Given the description of an element on the screen output the (x, y) to click on. 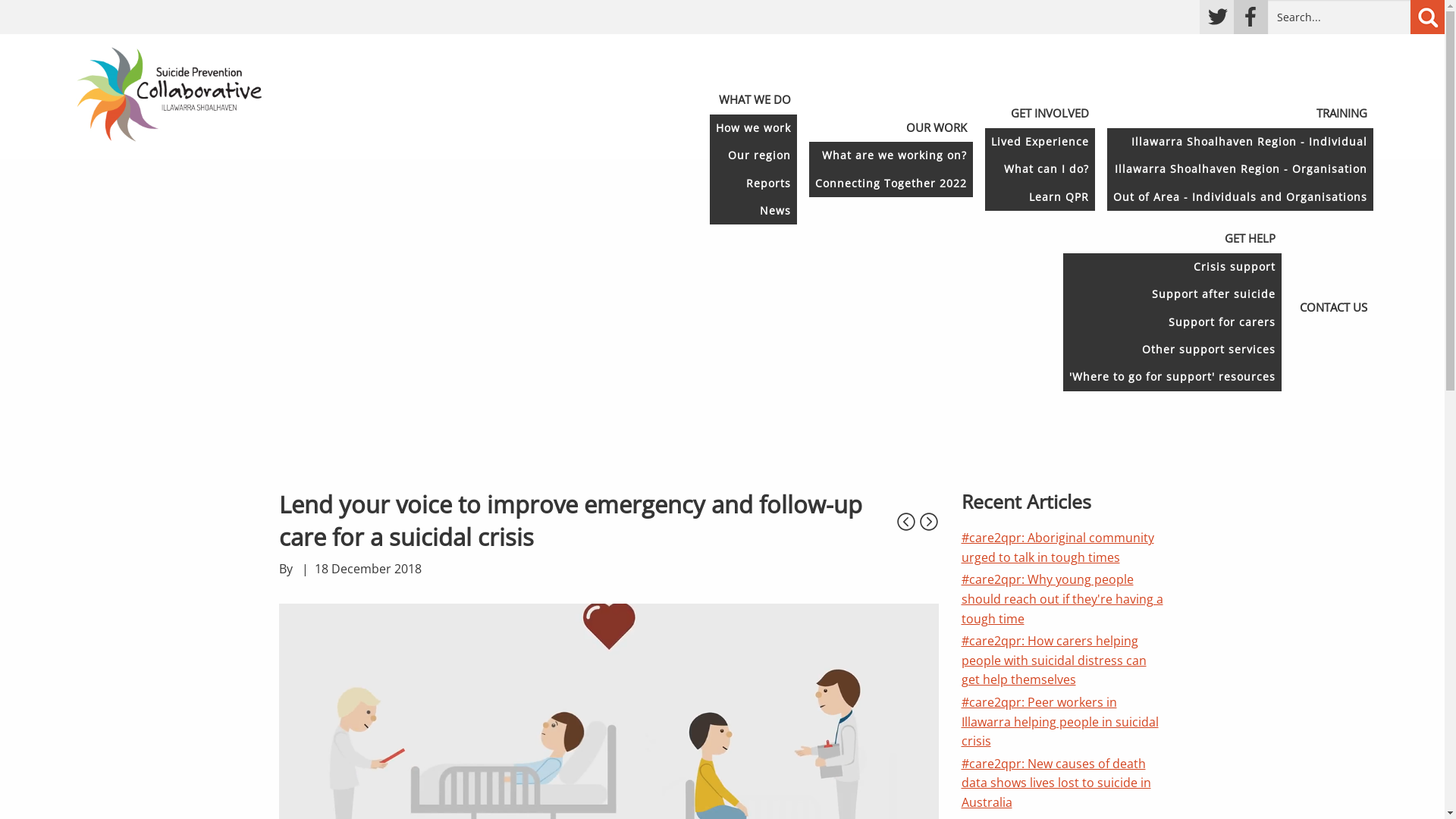
Out of Area - Individuals and Organisations Element type: text (1240, 196)
submit Element type: text (1427, 17)
Connecting Together 2022 Element type: text (890, 182)
GET INVOLVED Element type: text (1049, 113)
What are we working on? Element type: text (890, 155)
Learn QPR Element type: text (1039, 196)
How we work Element type: text (753, 127)
Other support services Element type: text (1172, 349)
Illawarra Shoalhaven Region - Organisation Element type: text (1240, 168)
'Where to go for support' resources Element type: text (1172, 376)
Lived Experience Element type: text (1039, 141)
Reports Element type: text (753, 182)
Support after suicide Element type: text (1172, 293)
TRAINING Element type: text (1341, 113)
previous news Element type: hover (928, 508)
News Element type: text (753, 210)
GET HELP Element type: text (1248, 238)
Illawarra Shoalhaven Region - Individual Element type: text (1240, 141)
OUR WORK Element type: text (935, 126)
Suicide Prevention Element type: hover (169, 92)
CONTACT US Element type: text (1333, 307)
Crisis support Element type: text (1172, 266)
Our region Element type: text (753, 155)
Support for carers Element type: text (1172, 321)
submit search Element type: hover (1427, 17)
twitter Element type: hover (1216, 17)
What can I do? Element type: text (1039, 168)
next news Element type: hover (906, 508)
Search Element type: hover (1338, 17)
WHAT WE DO Element type: text (754, 99)
facebook Element type: hover (1250, 17)
#care2qpr: Aboriginal community urged to talk in tough times Element type: text (1057, 547)
